Given the description of an element on the screen output the (x, y) to click on. 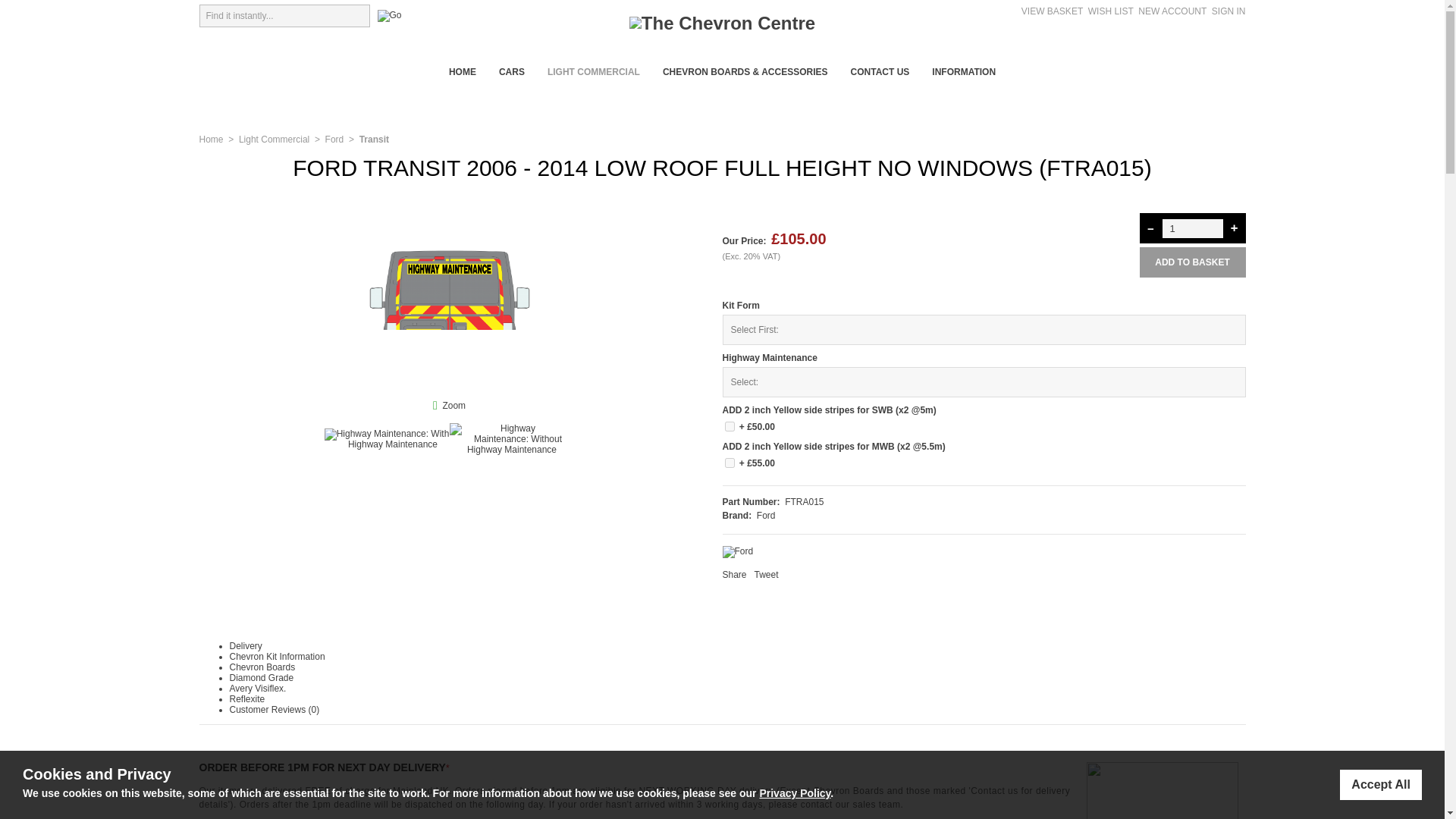
Delivery (245, 645)
1 (730, 426)
Share (733, 574)
Chevron Boards (261, 666)
Tweet (766, 574)
Chevron Kit Information (276, 656)
Home (210, 139)
Ford (333, 139)
Reflexite (246, 698)
Avery Visiflex. (256, 688)
Zoom (453, 405)
1 (1192, 227)
Diamond Grade (261, 677)
